Given the description of an element on the screen output the (x, y) to click on. 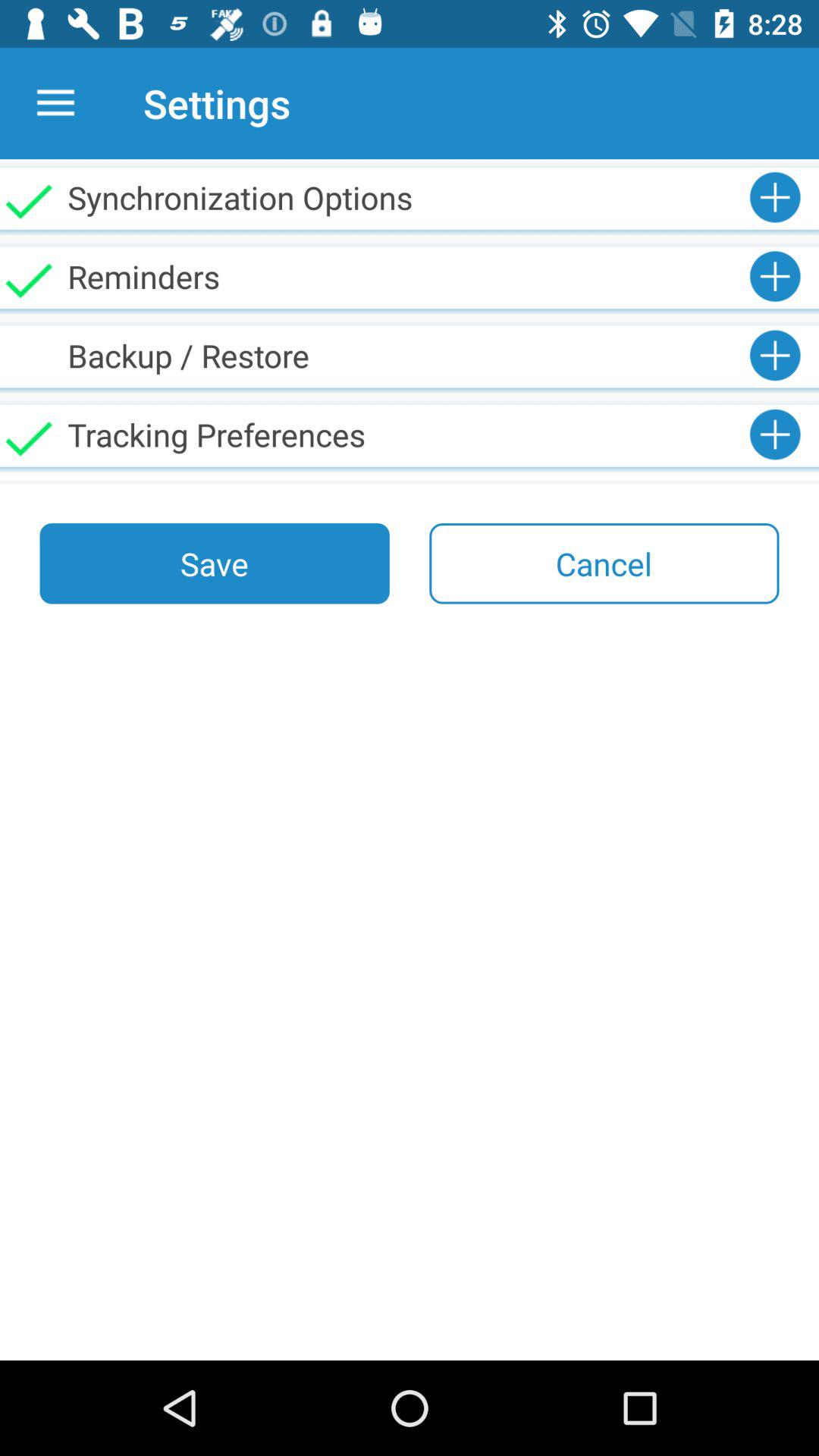
tap the save on the left (214, 563)
